Given the description of an element on the screen output the (x, y) to click on. 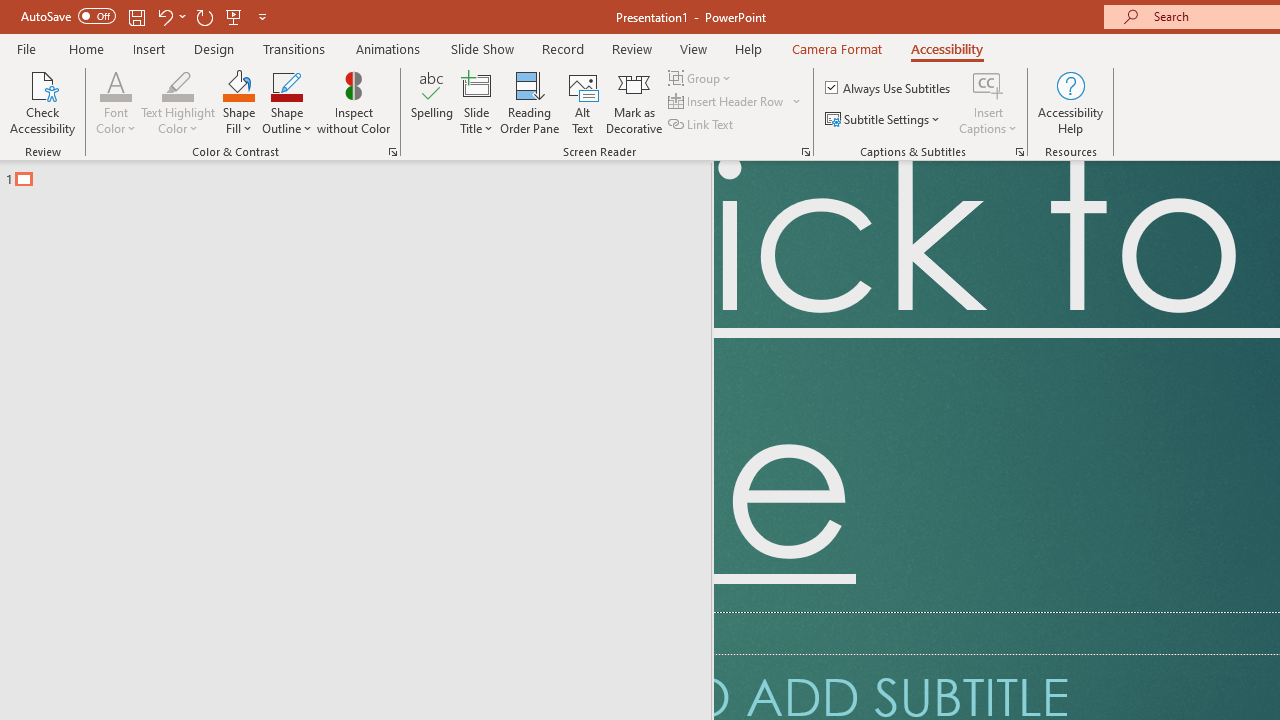
Reading Order Pane (529, 102)
Group (701, 78)
Insert Captions (988, 102)
Spelling... (432, 102)
Screen Reader (805, 151)
Alt Text (582, 102)
Link Text (702, 124)
Camera Format (836, 48)
Inspect without Color (353, 102)
Always Use Subtitles (889, 87)
